Given the description of an element on the screen output the (x, y) to click on. 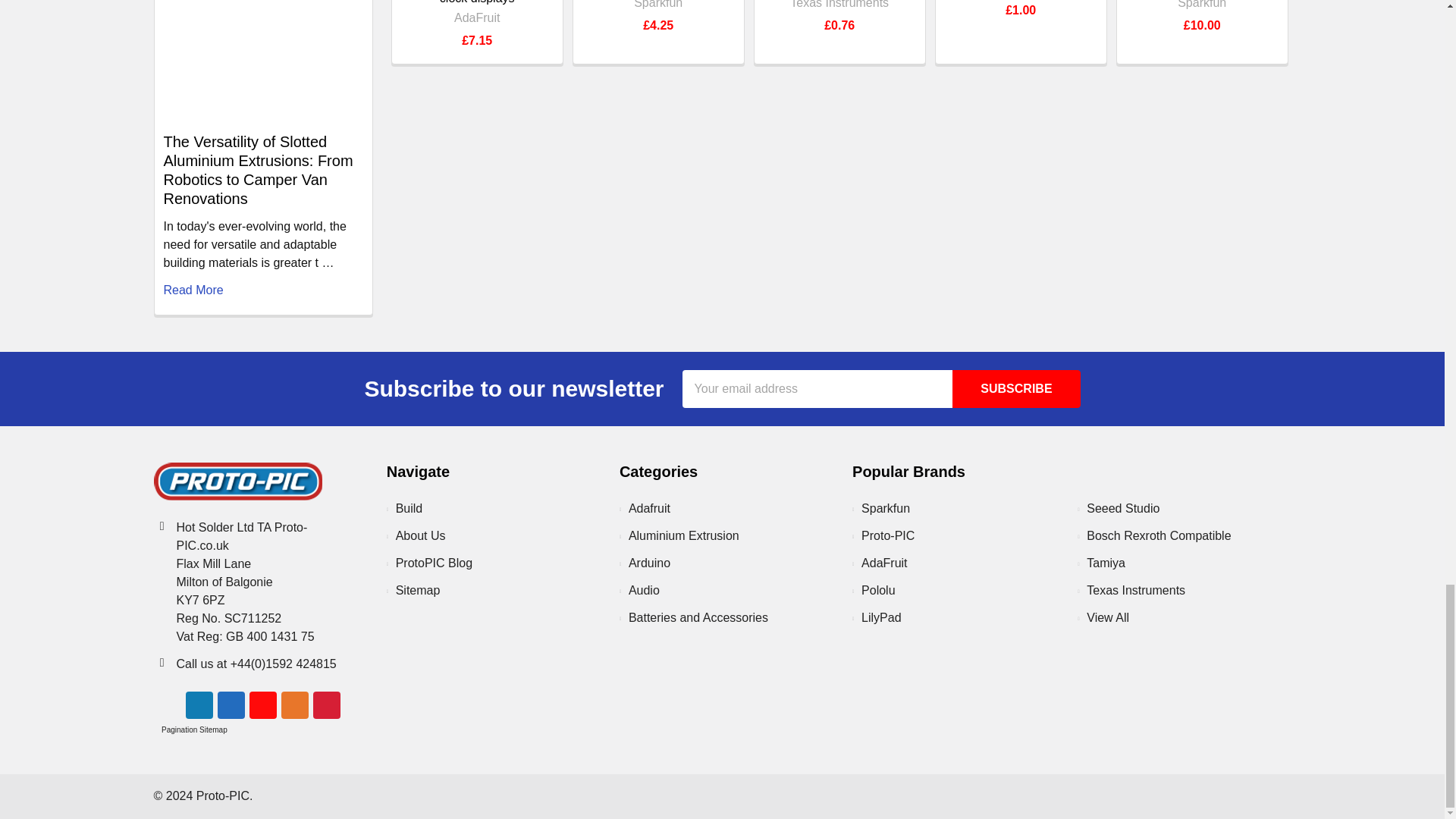
Subscribe (1016, 388)
